Given the description of an element on the screen output the (x, y) to click on. 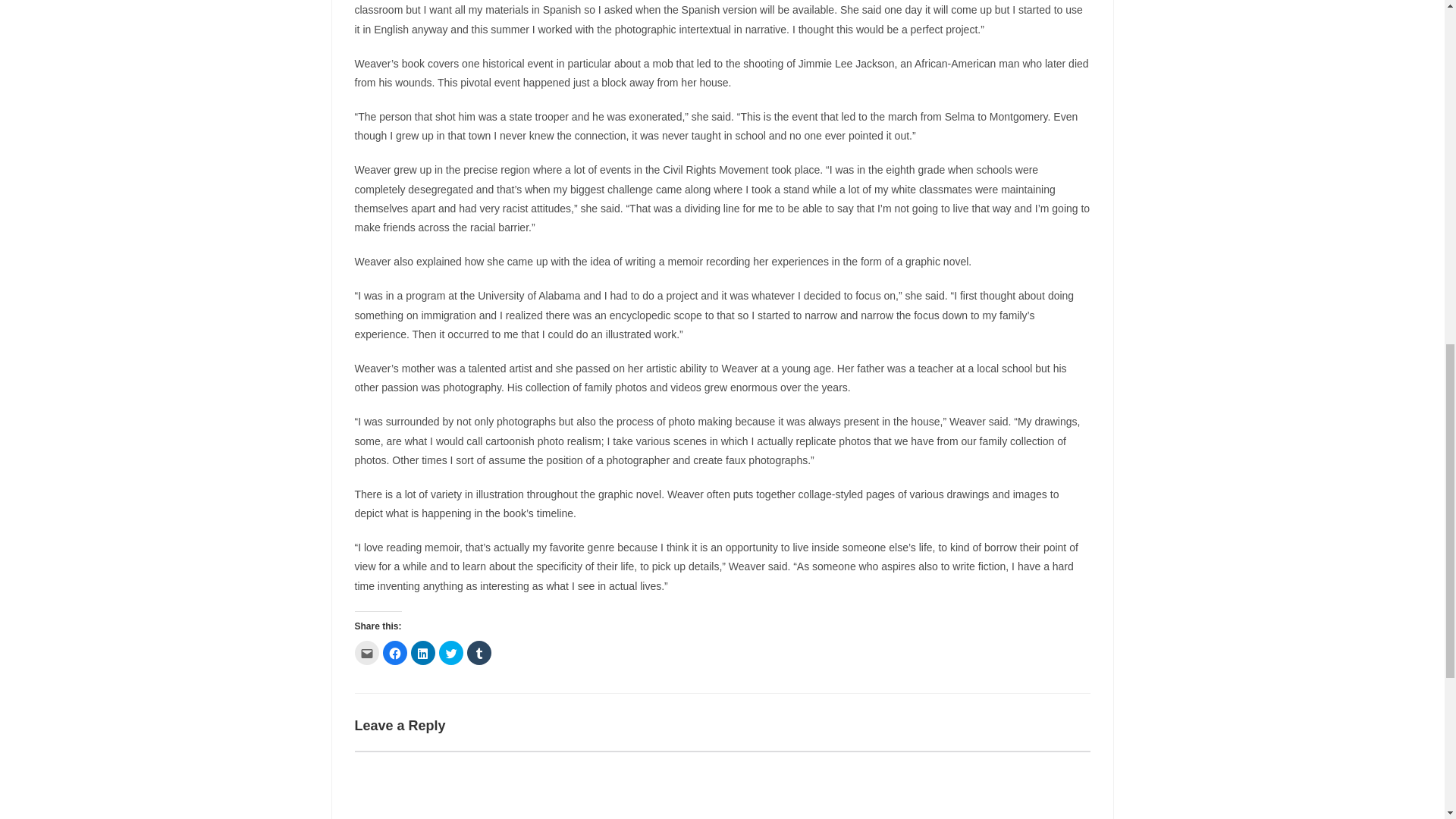
Comment Form (722, 785)
Click to share on Facebook (393, 652)
Click to share on Tumblr (479, 652)
Click to email this to a friend (366, 652)
Click to share on Twitter (450, 652)
Click to share on LinkedIn (422, 652)
